Given the description of an element on the screen output the (x, y) to click on. 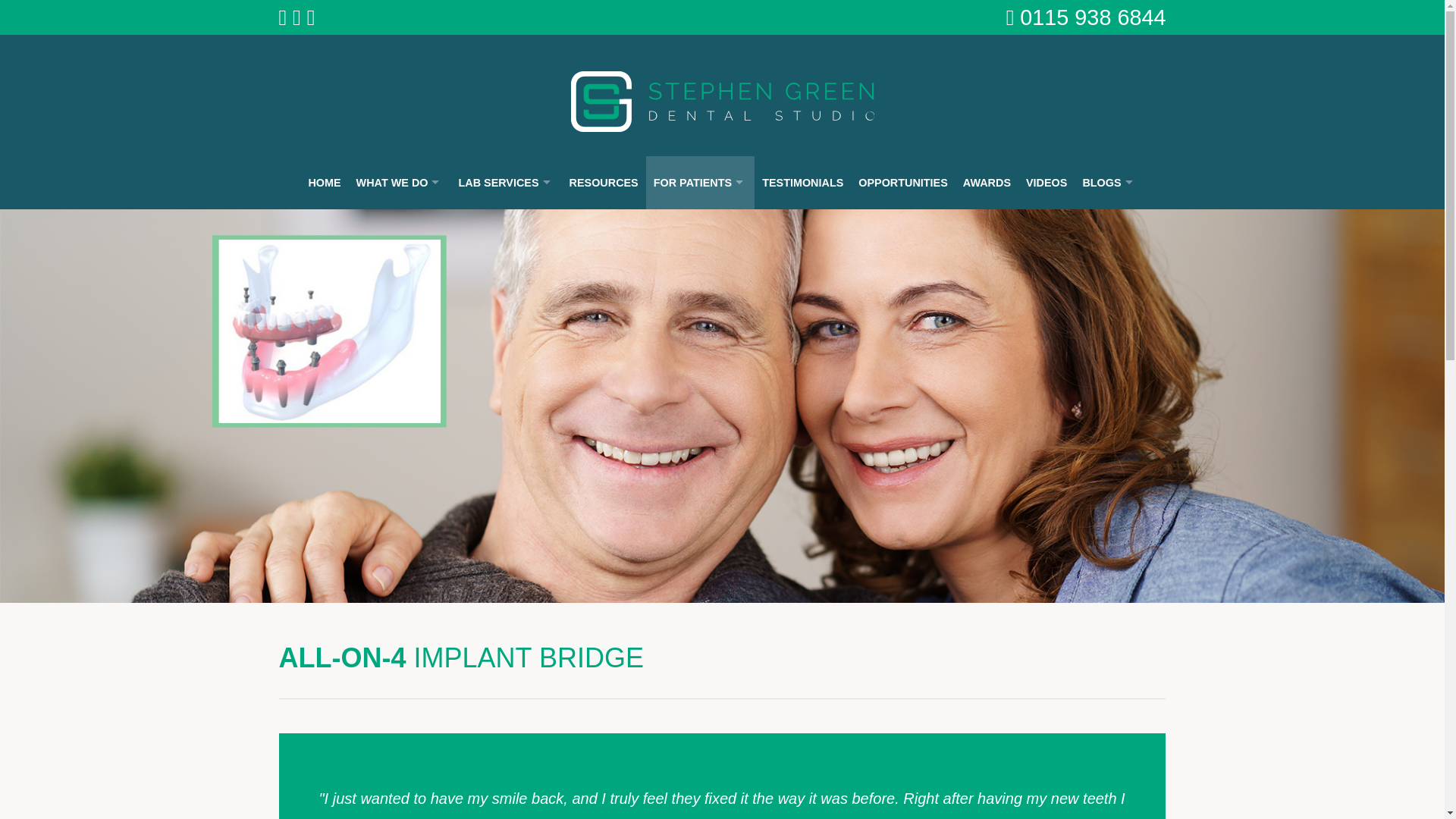
DAMAS ACCREDITED (504, 732)
DIGITAL DESIGN SOFTWARE (400, 277)
CHROME REMOVABLE PARTIAL DENTURES (504, 596)
LAB SERVICES (504, 182)
0115 938 6844 (1093, 16)
WHAT WE DO (400, 182)
CADCAM SYSTEMS (400, 322)
SHADE TAKING (504, 641)
DIGITAL IMPRESSIONS (504, 231)
DIGITAL SMILE DESIGN (504, 277)
DENTAL IMPLANTOLOGY (504, 368)
TRAINING AT STEPHEN GREEN DENTAL STUDIO ACADEMY (504, 687)
IMPLANT TREATMENT PLANNING (504, 413)
CROWN AND BRIDGEWORK (504, 322)
GUIDED STENT MANUFACTURE (504, 459)
